Given the description of an element on the screen output the (x, y) to click on. 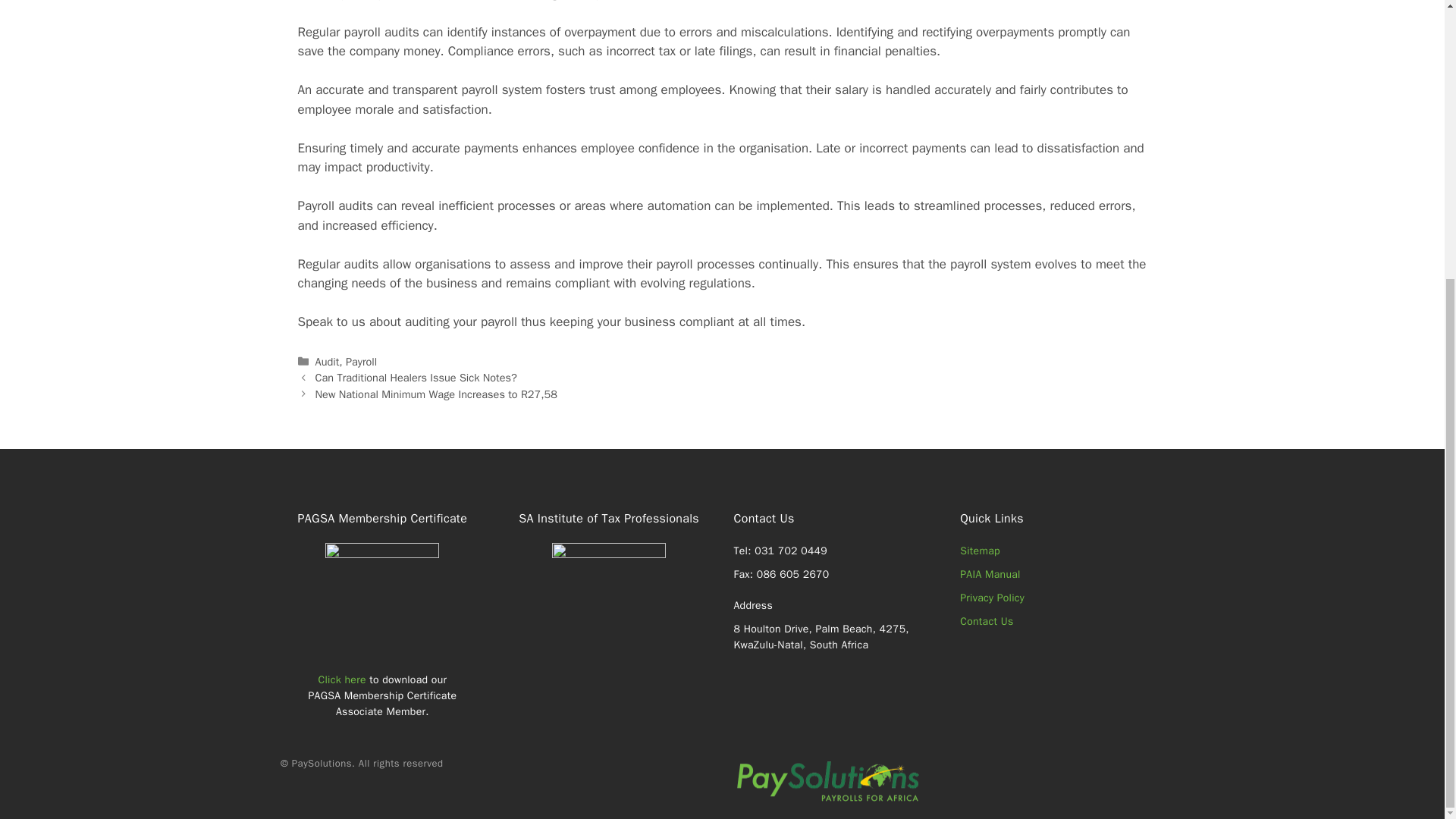
Payroll (361, 361)
PAGSA-Associate-Member-website-seal (381, 599)
PAIA Manual (989, 574)
Sait-2018 (608, 599)
Contact Us (986, 621)
Can Traditional Healers Issue Sick Notes? (415, 377)
Click here (342, 679)
New National Minimum Wage Increases to R27,58 (436, 394)
Sitemap (979, 550)
Audit (327, 361)
